Given the description of an element on the screen output the (x, y) to click on. 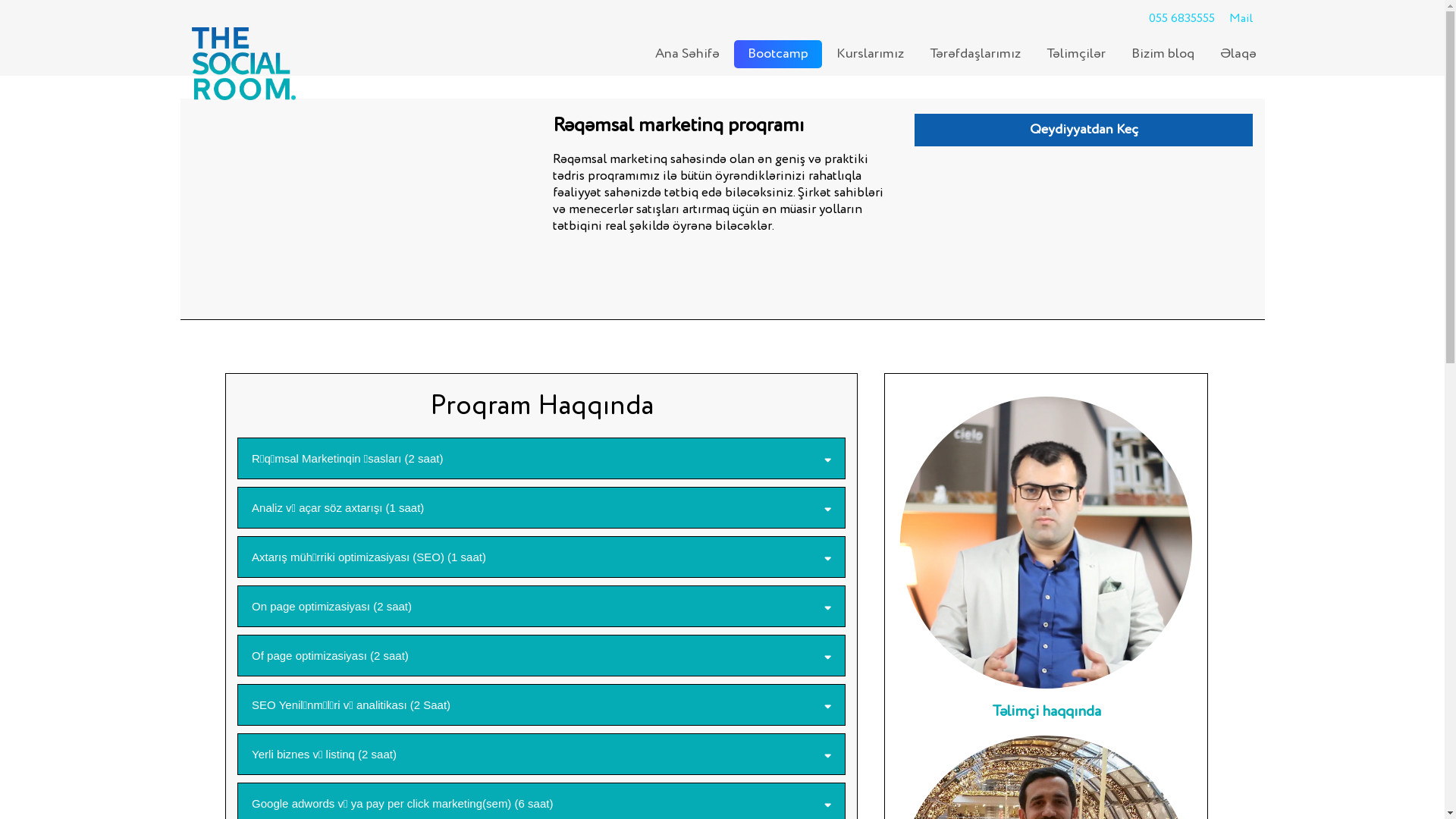
055 6835555 Element type: text (1181, 18)
Bootcamp Element type: text (777, 53)
Mail Element type: text (1240, 18)
Bizim bloq Element type: text (1162, 54)
